Given the description of an element on the screen output the (x, y) to click on. 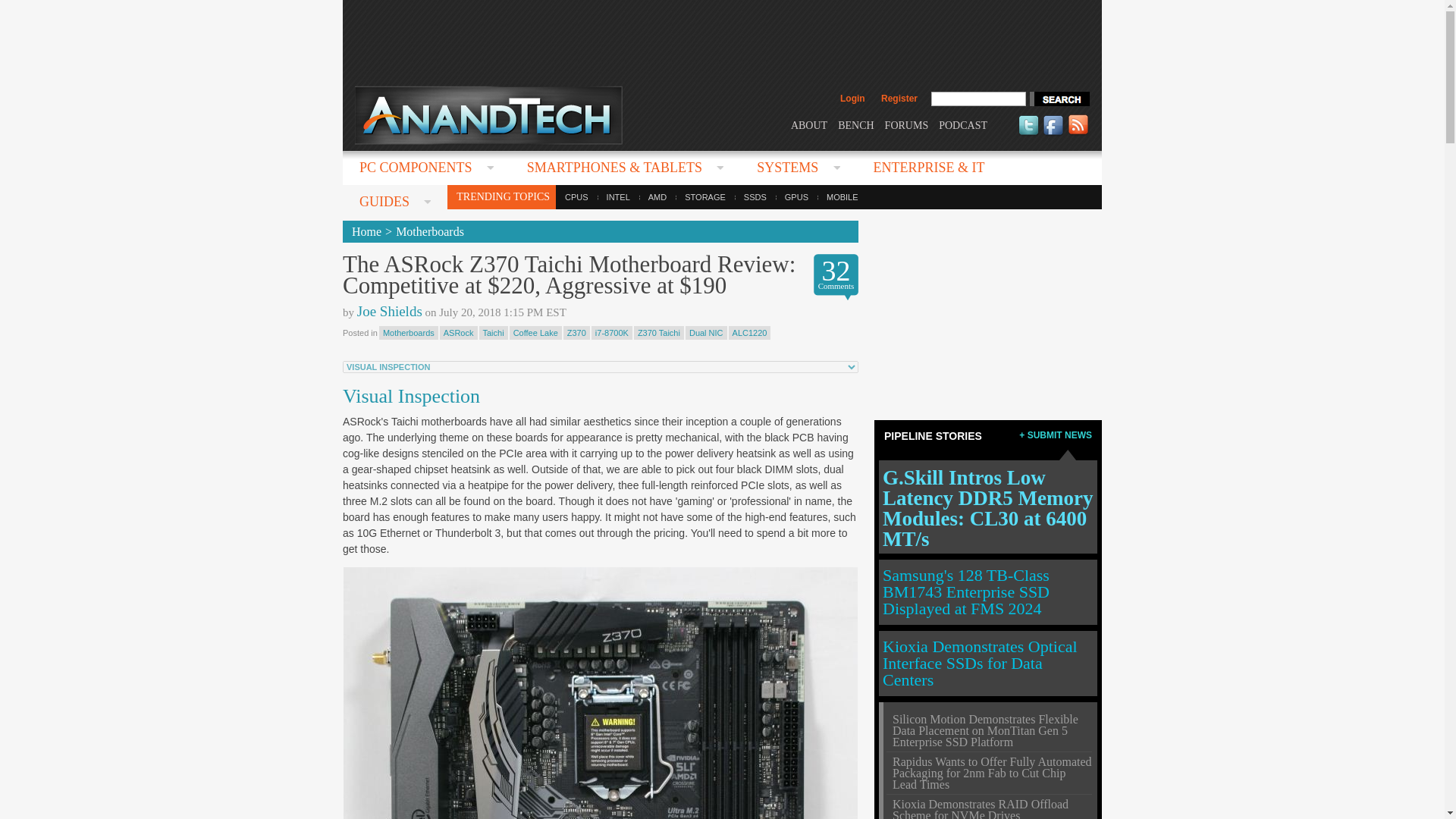
BENCH (855, 125)
Login (852, 98)
PODCAST (963, 125)
ABOUT (808, 125)
search (1059, 98)
FORUMS (906, 125)
search (1059, 98)
search (1059, 98)
Register (898, 98)
